Given the description of an element on the screen output the (x, y) to click on. 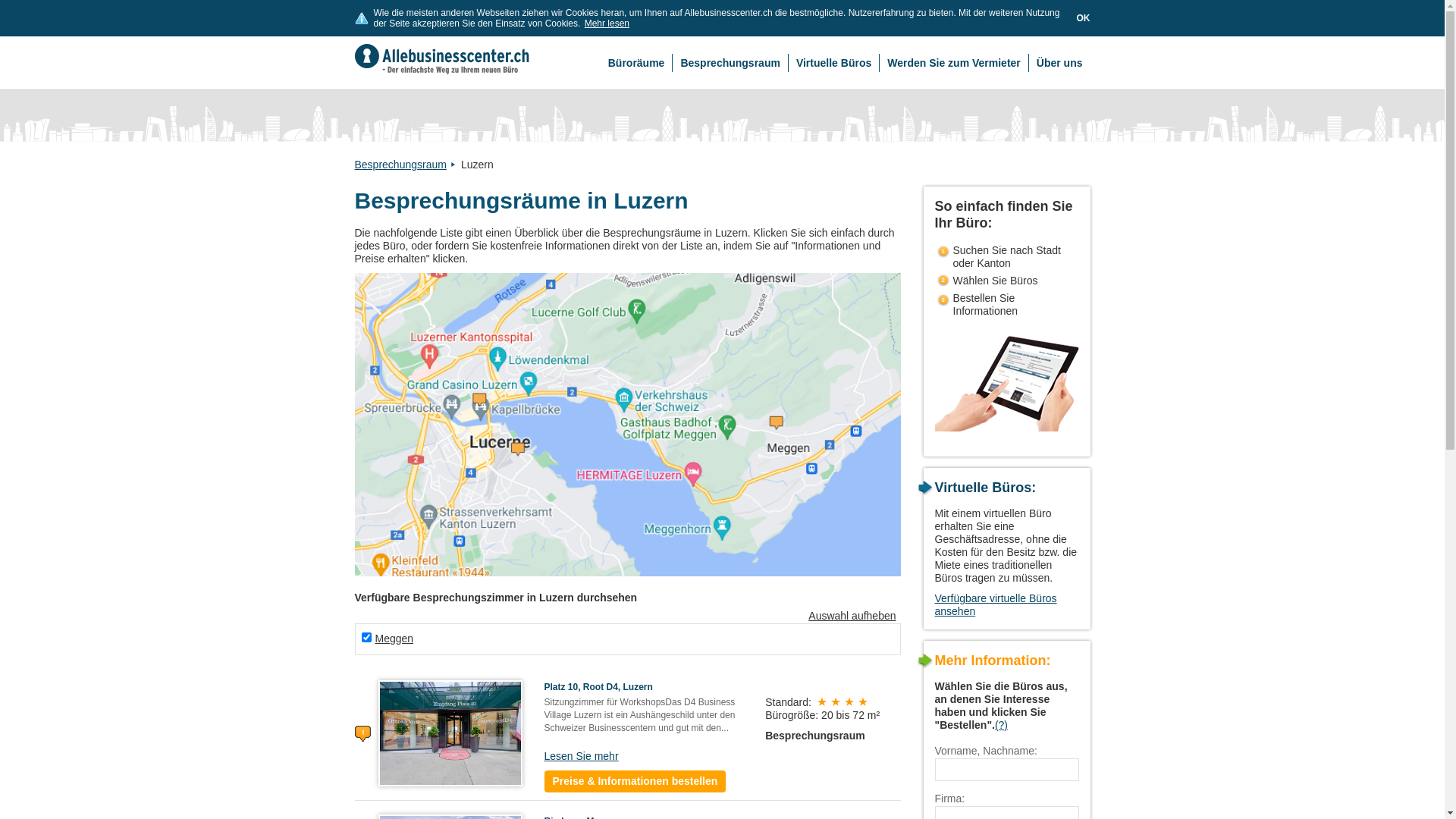
Preise & Informationen bestellen Element type: text (635, 781)
Meggen Element type: text (393, 638)
Platz 10, Root D4, Luzern Element type: hover (449, 732)
Lesen Sie mehr Element type: text (581, 755)
Besprechungsraum Element type: text (405, 164)
Werden Sie zum Vermieter Element type: text (953, 62)
Auswahl aufheben Element type: text (851, 615)
Besprechungsraum Element type: text (729, 62)
Platz 10, Root D4, Luzern Element type: text (598, 686)
Mehr lesen Element type: text (606, 23)
